Given the description of an element on the screen output the (x, y) to click on. 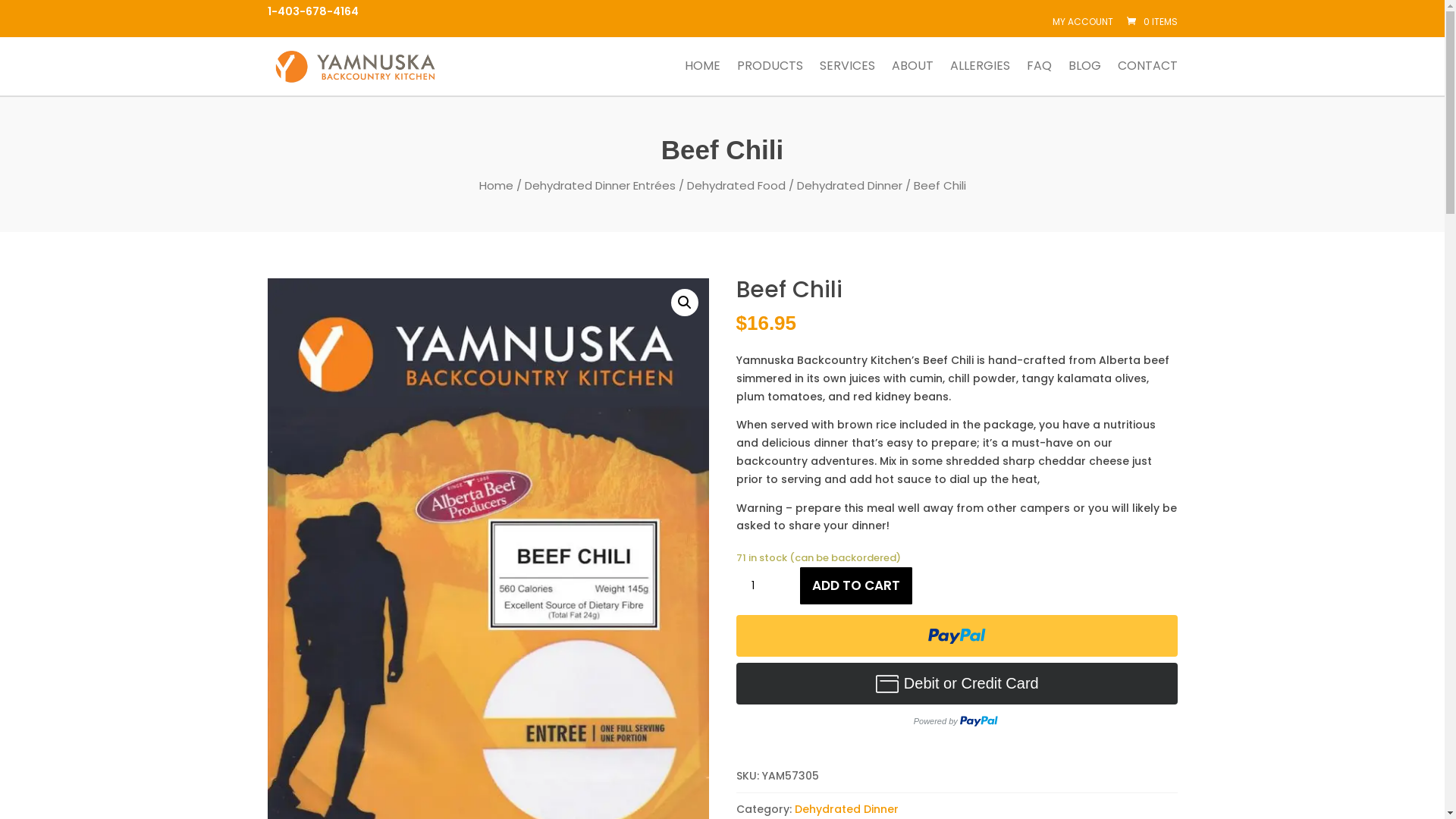
PayPal Element type: hover (955, 698)
SERVICES Element type: text (846, 77)
PRODUCTS Element type: text (770, 77)
HOME Element type: text (701, 77)
CONTACT Element type: text (1147, 77)
MY ACCOUNT Element type: text (1082, 21)
ALLERGIES Element type: text (979, 77)
Dehydrated Dinner Element type: text (848, 185)
0 ITEMS Element type: text (1149, 21)
BLOG Element type: text (1083, 77)
ABOUT Element type: text (912, 77)
FAQ Element type: text (1038, 77)
PayPal Element type: hover (955, 635)
Dehydrated Food Element type: text (736, 185)
Home Element type: text (496, 185)
Dehydrated Dinner Element type: text (846, 808)
ADD TO CART Element type: text (856, 585)
